Given the description of an element on the screen output the (x, y) to click on. 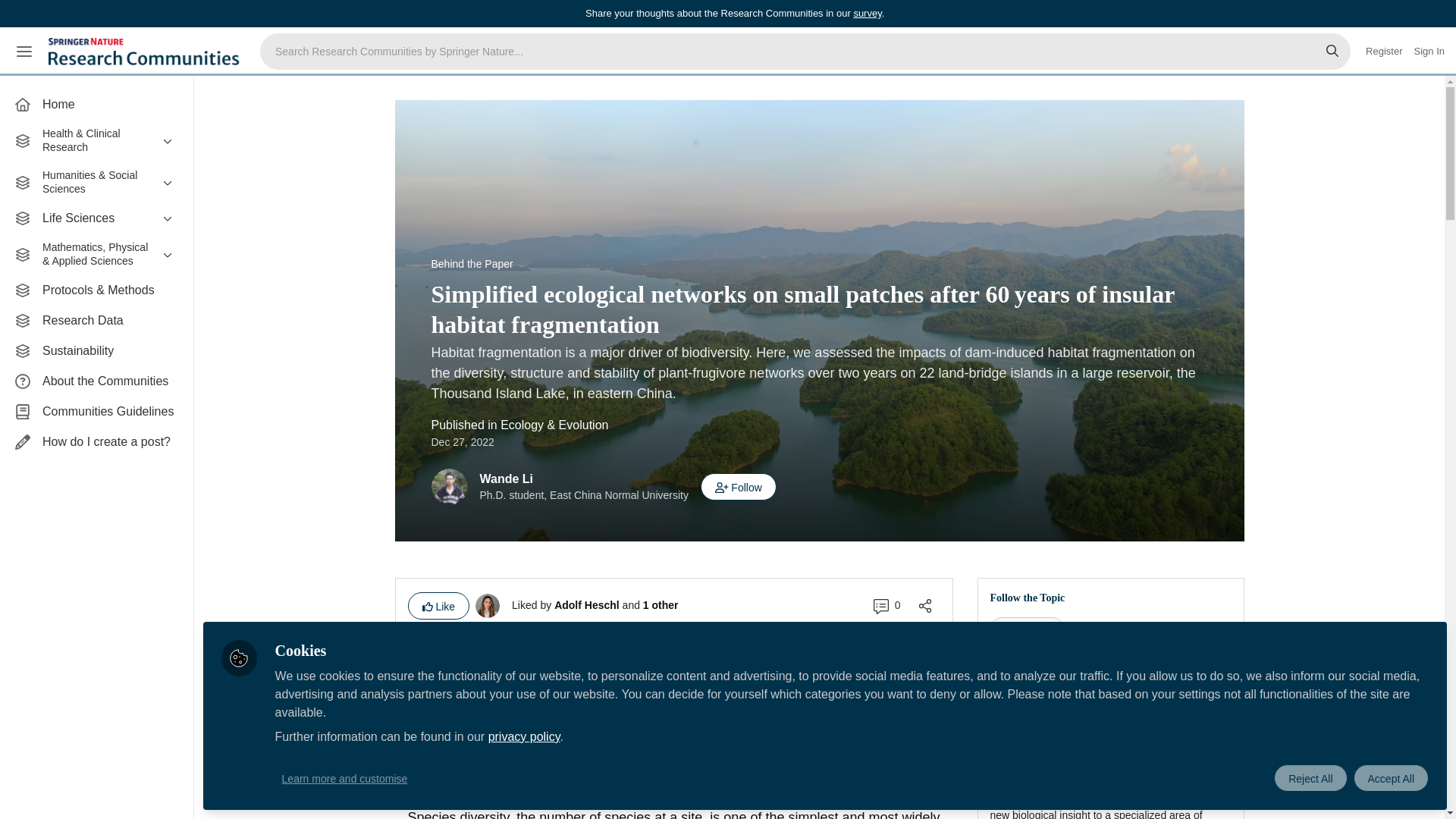
Home (96, 103)
Research Communities by Springer Nature (146, 51)
Search (1332, 51)
Life Sciences (96, 217)
Home (96, 103)
Life Sciences (96, 217)
Menu (24, 51)
survey (866, 12)
